Given the description of an element on the screen output the (x, y) to click on. 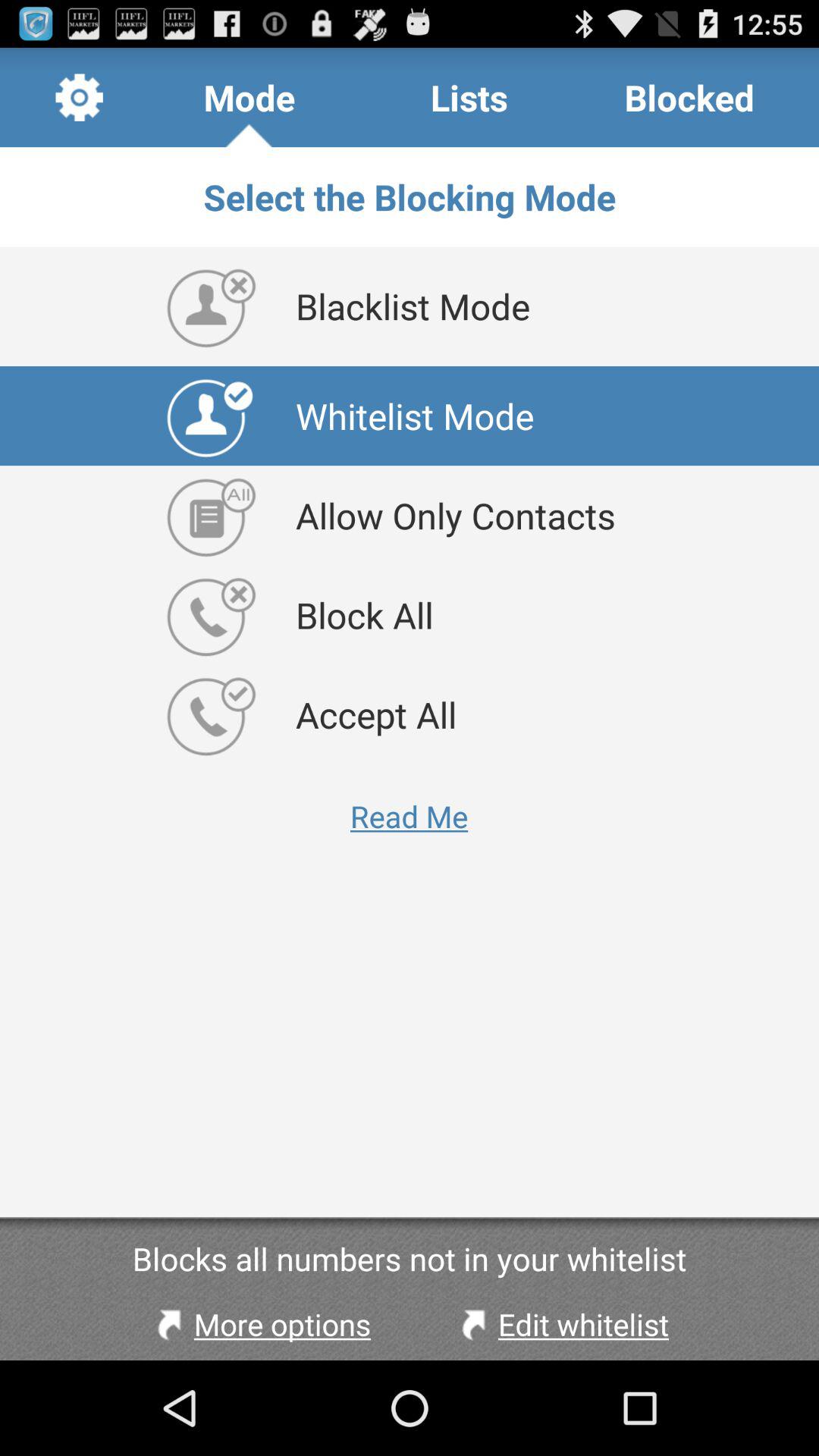
launch the item above select the blocking icon (469, 97)
